Given the description of an element on the screen output the (x, y) to click on. 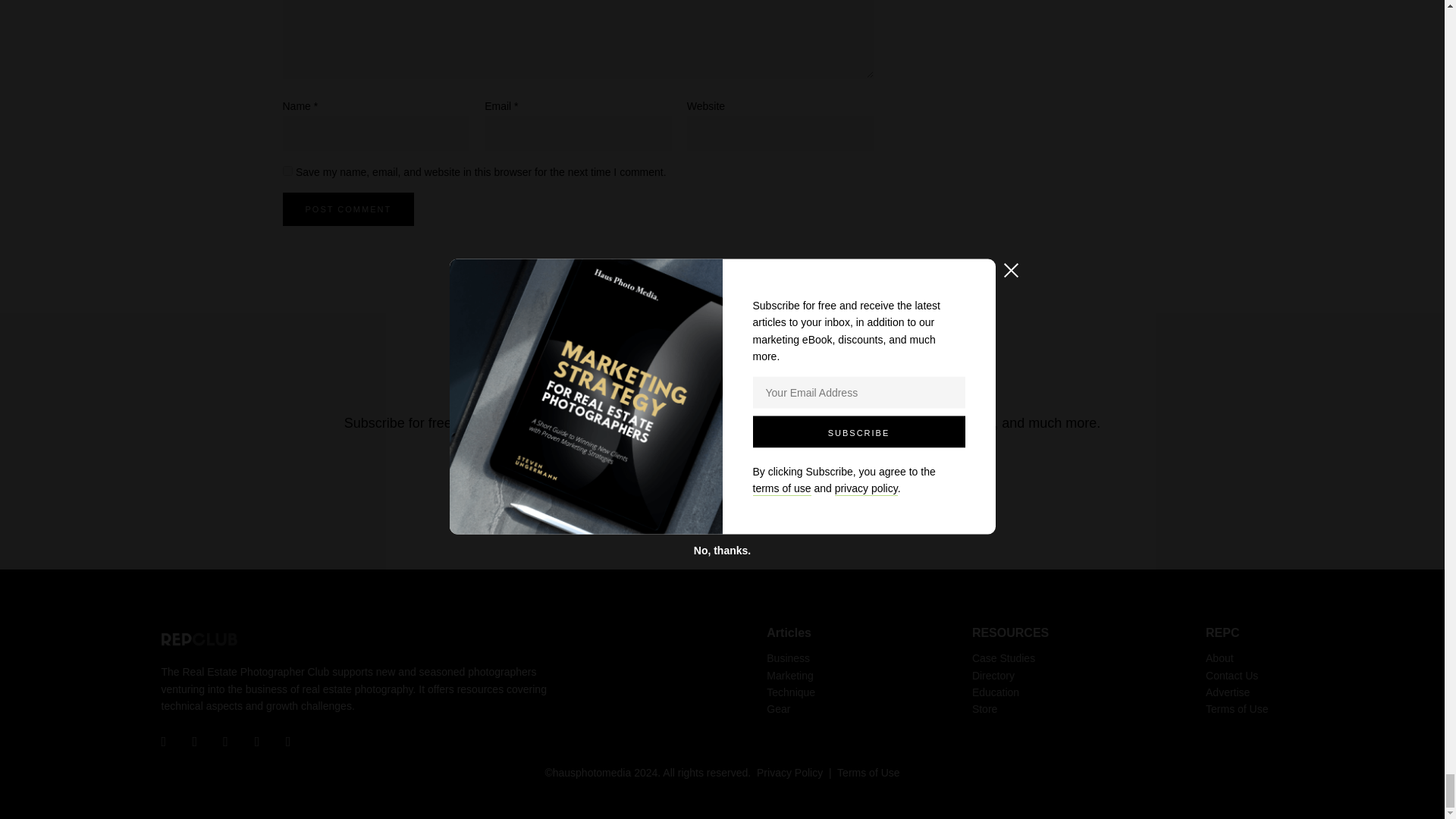
Post Comment (347, 209)
yes (287, 171)
Subscribe (851, 461)
